Given the description of an element on the screen output the (x, y) to click on. 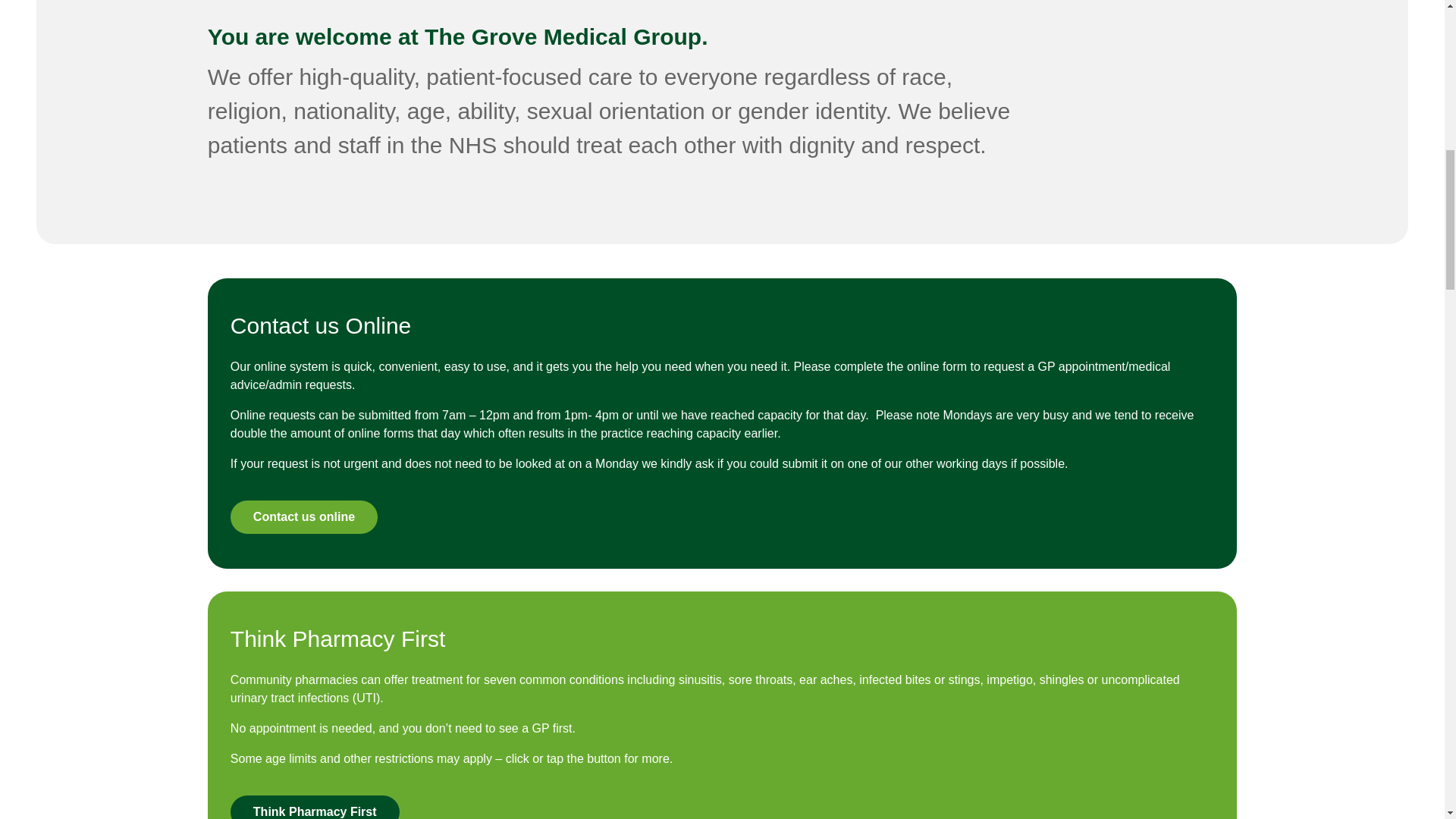
Contact us online (303, 516)
Think Pharmacy First (314, 807)
Think Pharmacy First (314, 807)
